Given the description of an element on the screen output the (x, y) to click on. 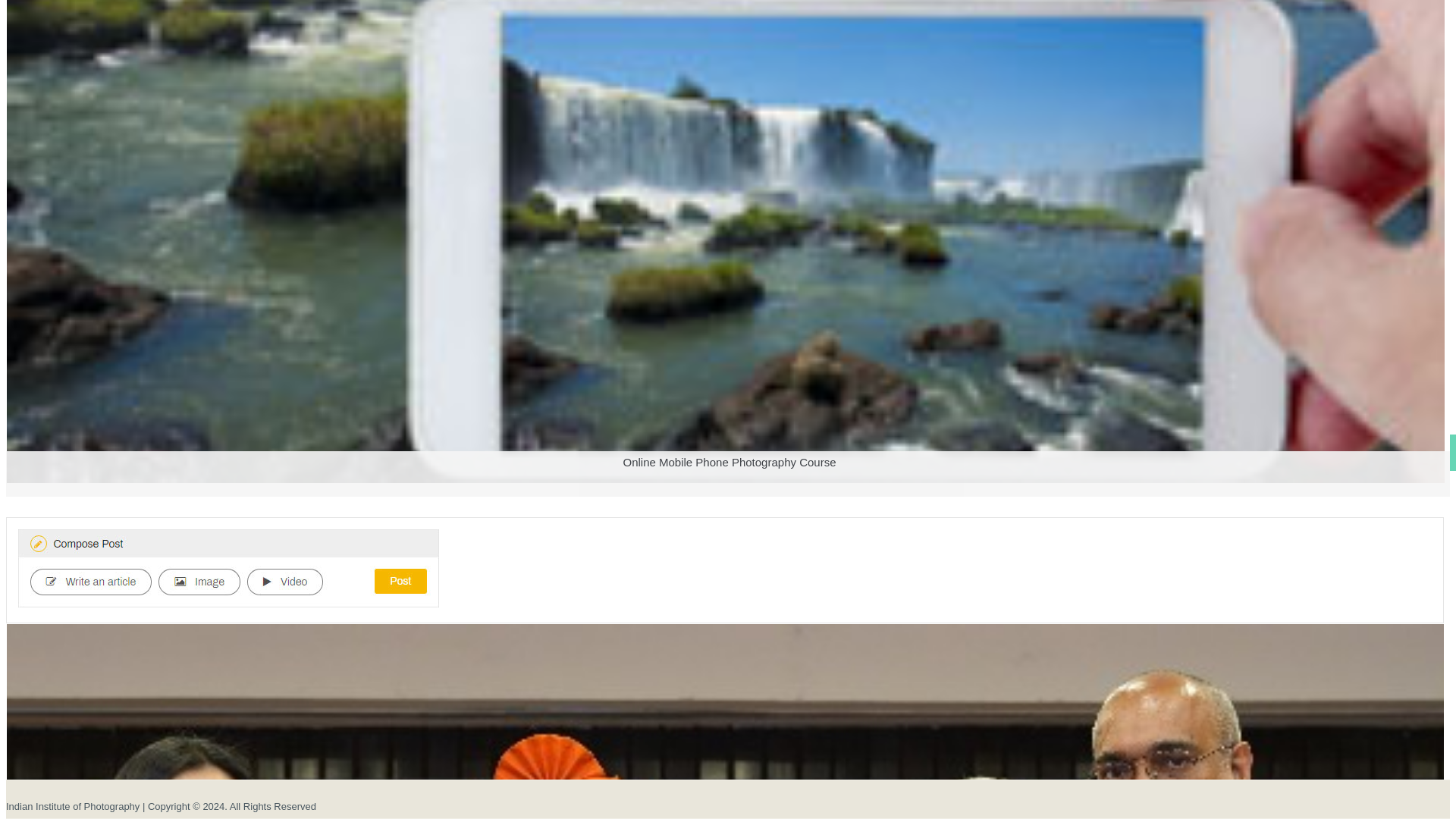
Please login to submit a post. (228, 568)
Online Mobile Phone Photography Course (725, 503)
